Given the description of an element on the screen output the (x, y) to click on. 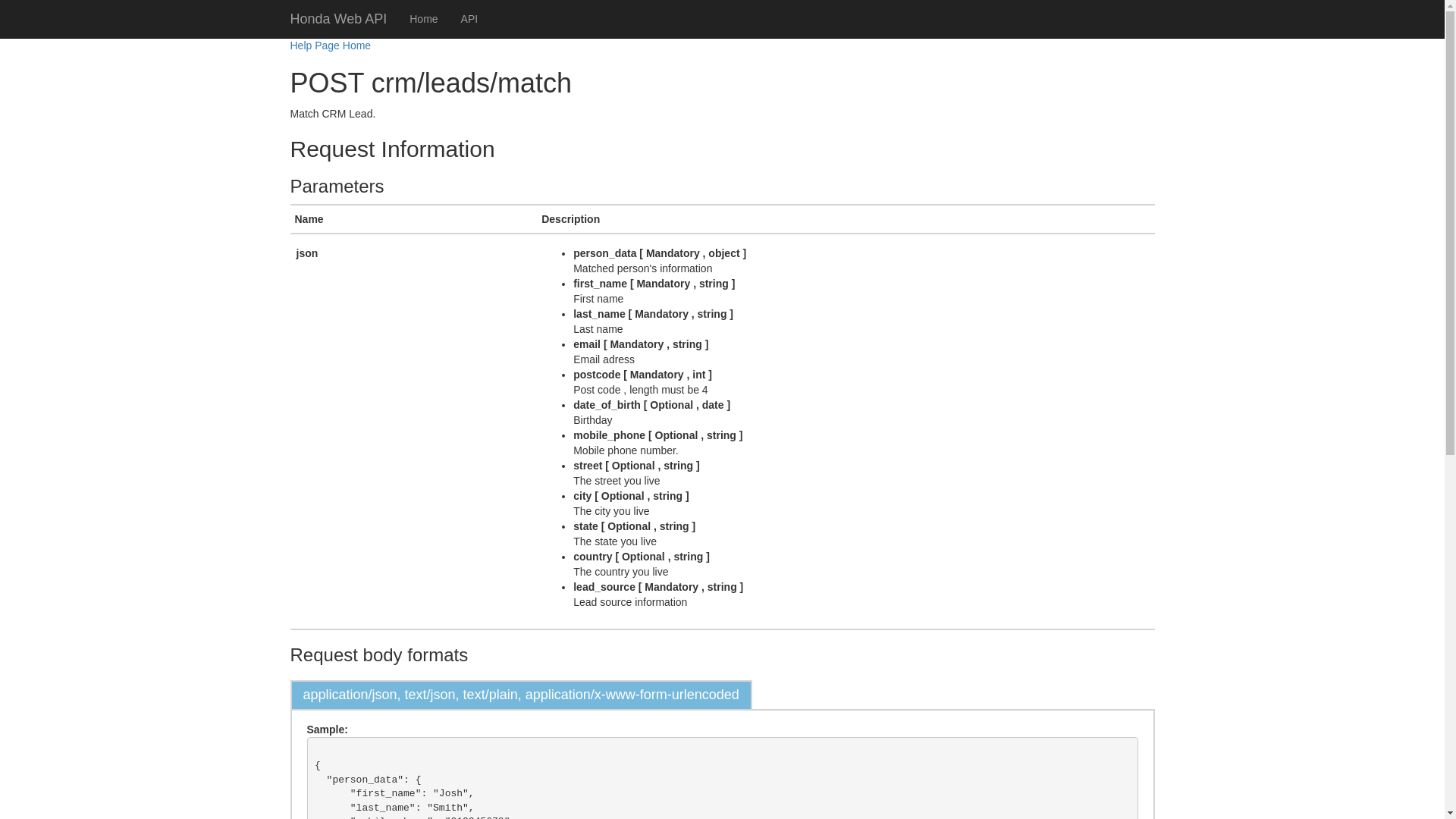
Honda Web API Element type: text (338, 18)
API Element type: text (469, 18)
Home Element type: text (423, 18)
Help Page Home Element type: text (329, 45)
